Given the description of an element on the screen output the (x, y) to click on. 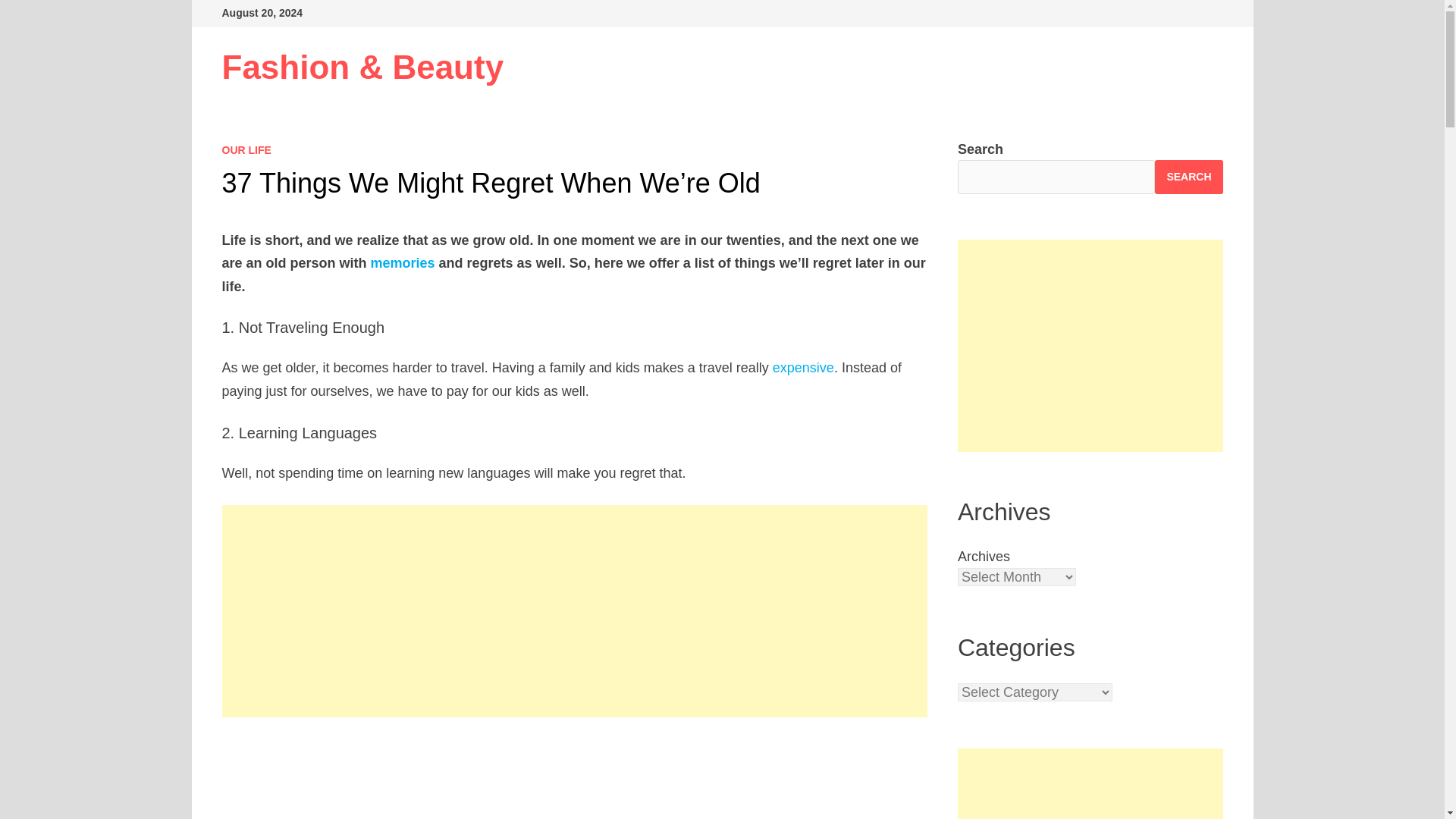
Advertisement (1090, 345)
SEARCH (1188, 176)
Advertisement (574, 778)
Advertisement (1090, 783)
memories (403, 263)
OUR LIFE (245, 150)
expensive (803, 367)
